Given the description of an element on the screen output the (x, y) to click on. 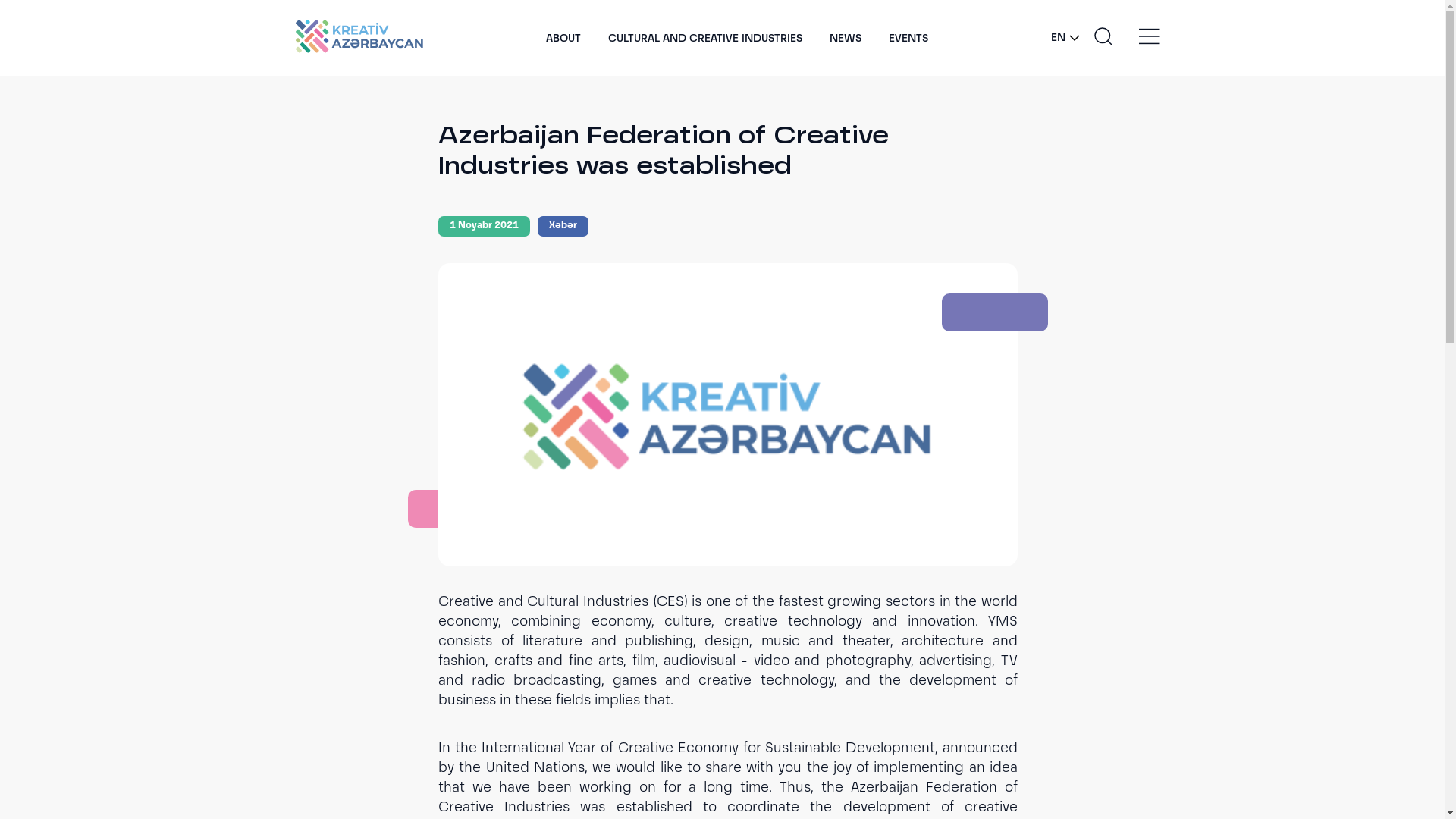
EN Element type: text (1065, 37)
EVENTS Element type: text (908, 38)
CULTURAL AND CREATIVE INDUSTRIES Element type: text (705, 38)
NEWS Element type: text (845, 38)
ABOUT Element type: text (563, 38)
